Given the description of an element on the screen output the (x, y) to click on. 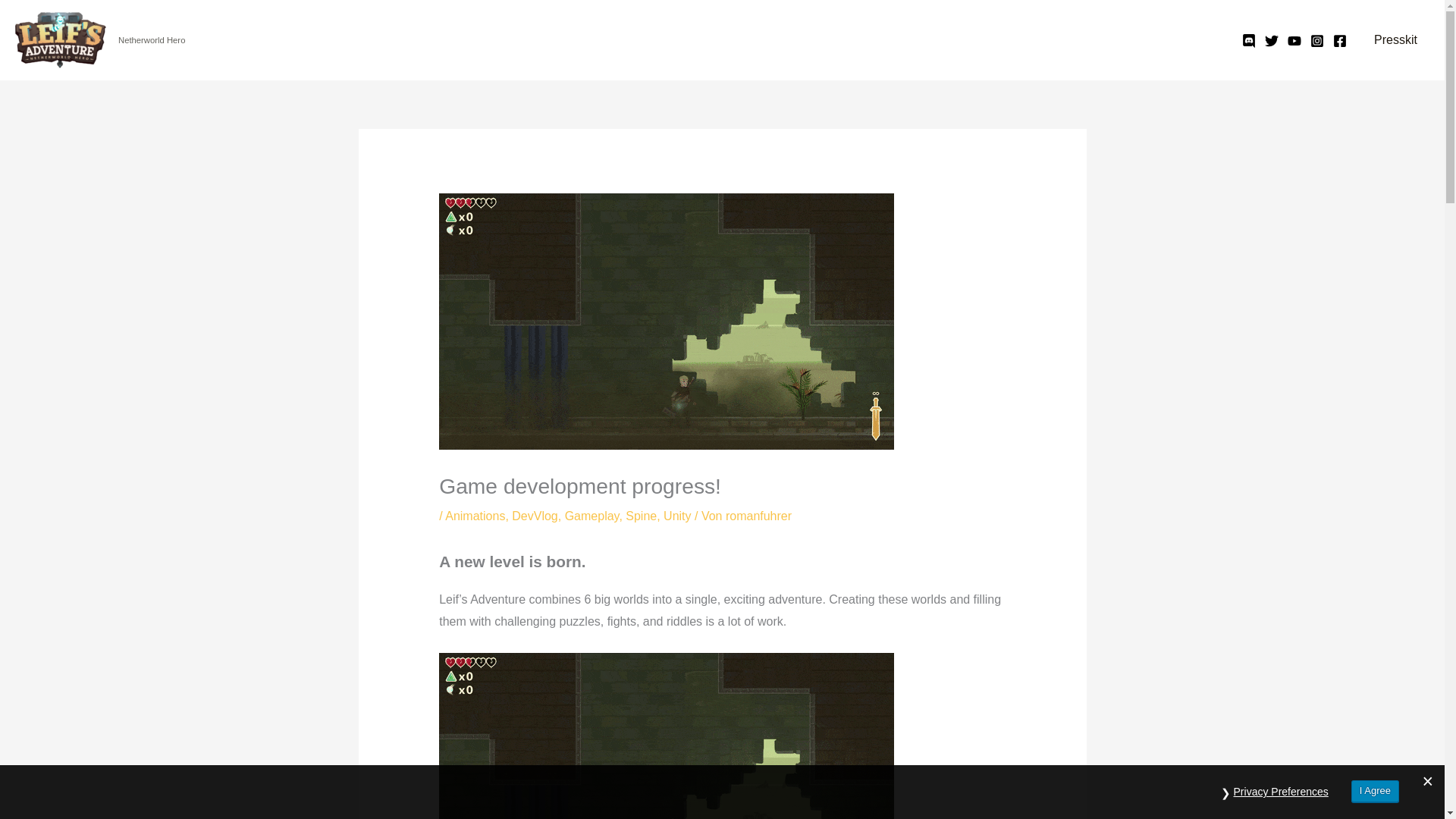
Animations (475, 515)
Presskit (1395, 39)
Spine (641, 515)
Gameplay (592, 515)
Privacy Preferences (1280, 791)
Unity (676, 515)
I Agree (1375, 791)
romanfuhrer (758, 515)
DevVlog (534, 515)
